Given the description of an element on the screen output the (x, y) to click on. 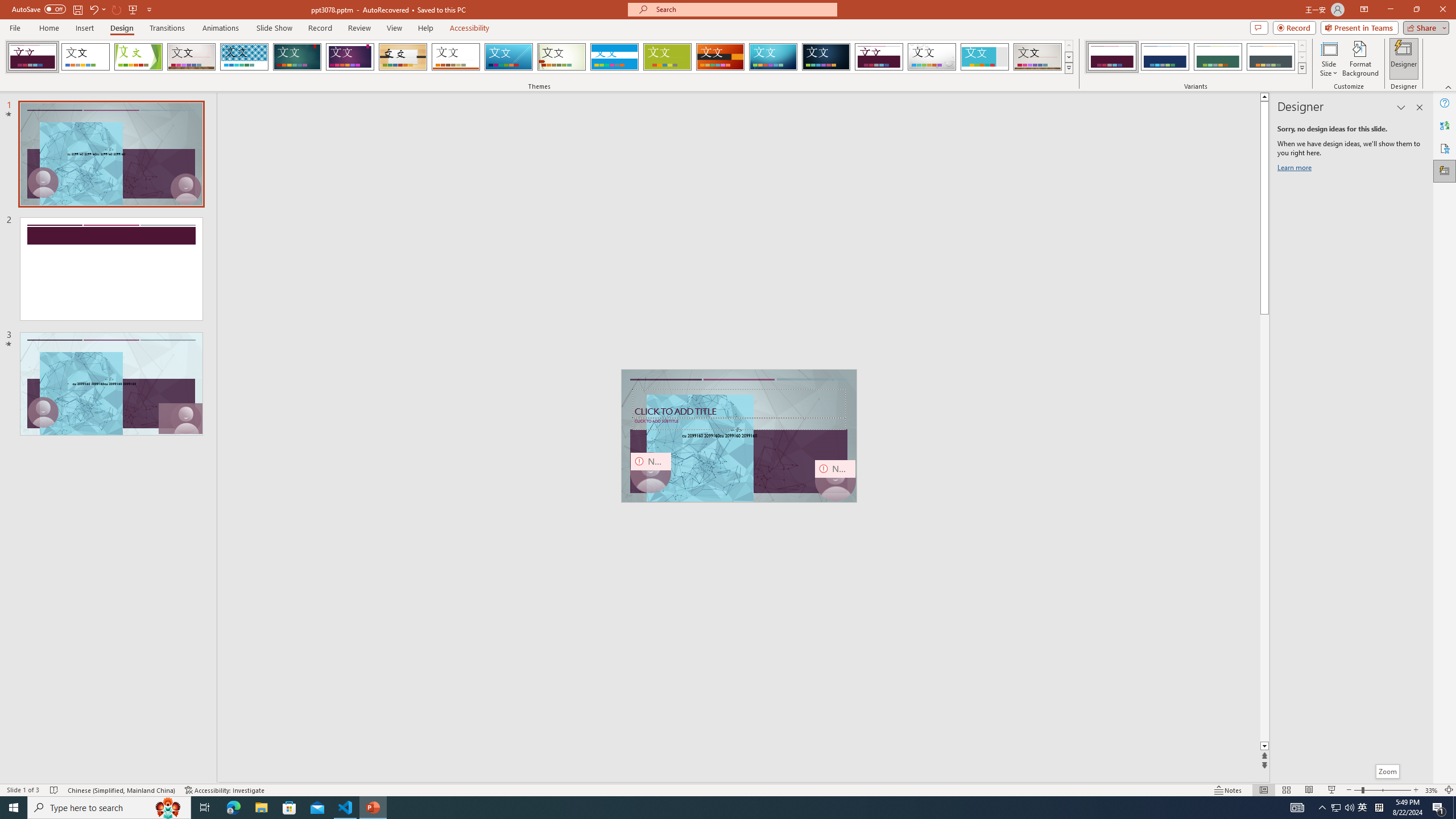
Berlin (720, 56)
An abstract genetic concept (738, 435)
